Given the description of an element on the screen output the (x, y) to click on. 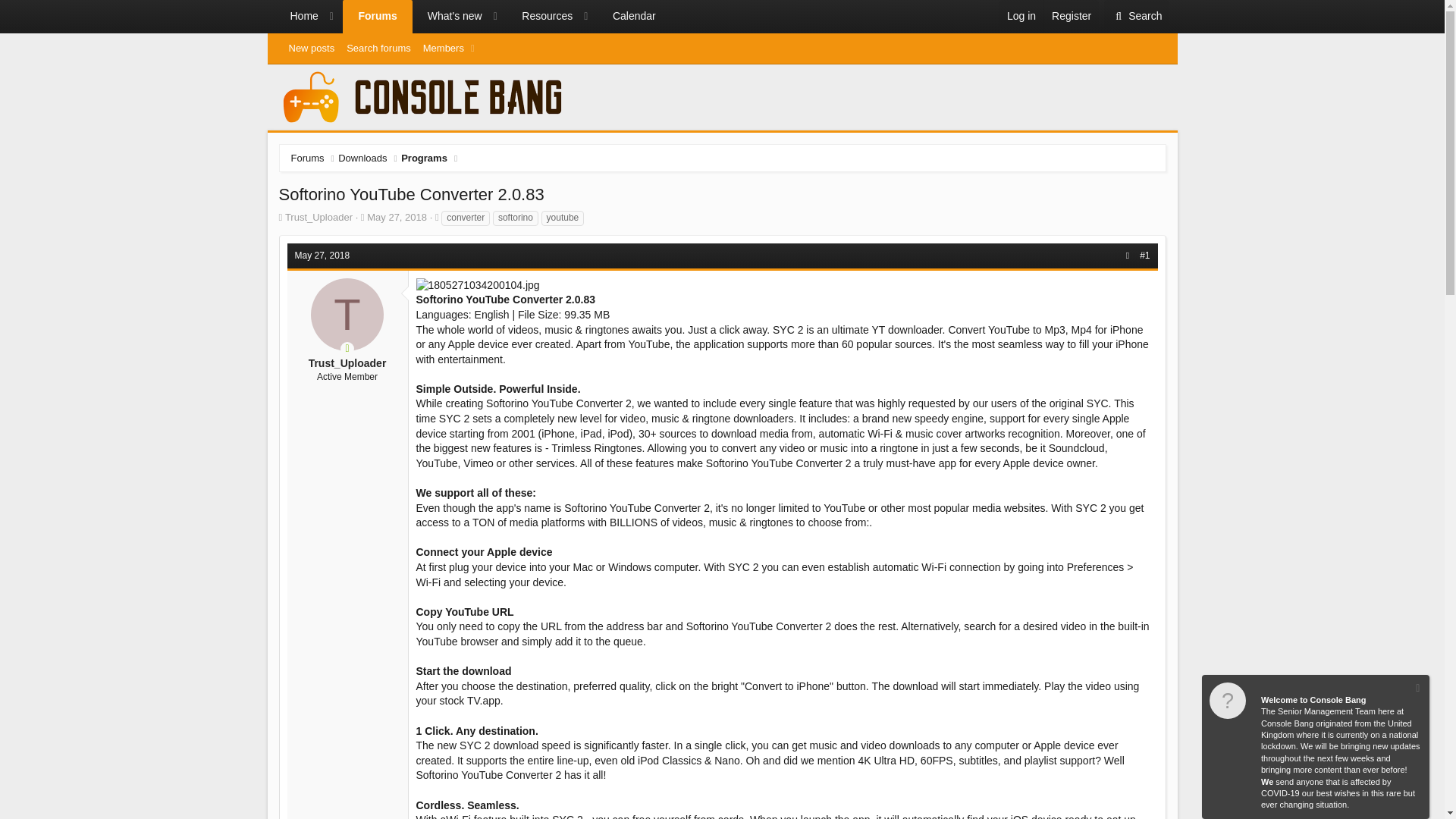
Search (1136, 16)
May 27, 2018 at 8:04 AM (321, 255)
Members (440, 47)
Resources (539, 16)
Home (297, 16)
1805271034200104.jpg (476, 285)
Log in (1020, 16)
What's new (472, 16)
Search (447, 16)
New posts (1136, 16)
Dismiss notice (311, 47)
Start date (472, 16)
